Given the description of an element on the screen output the (x, y) to click on. 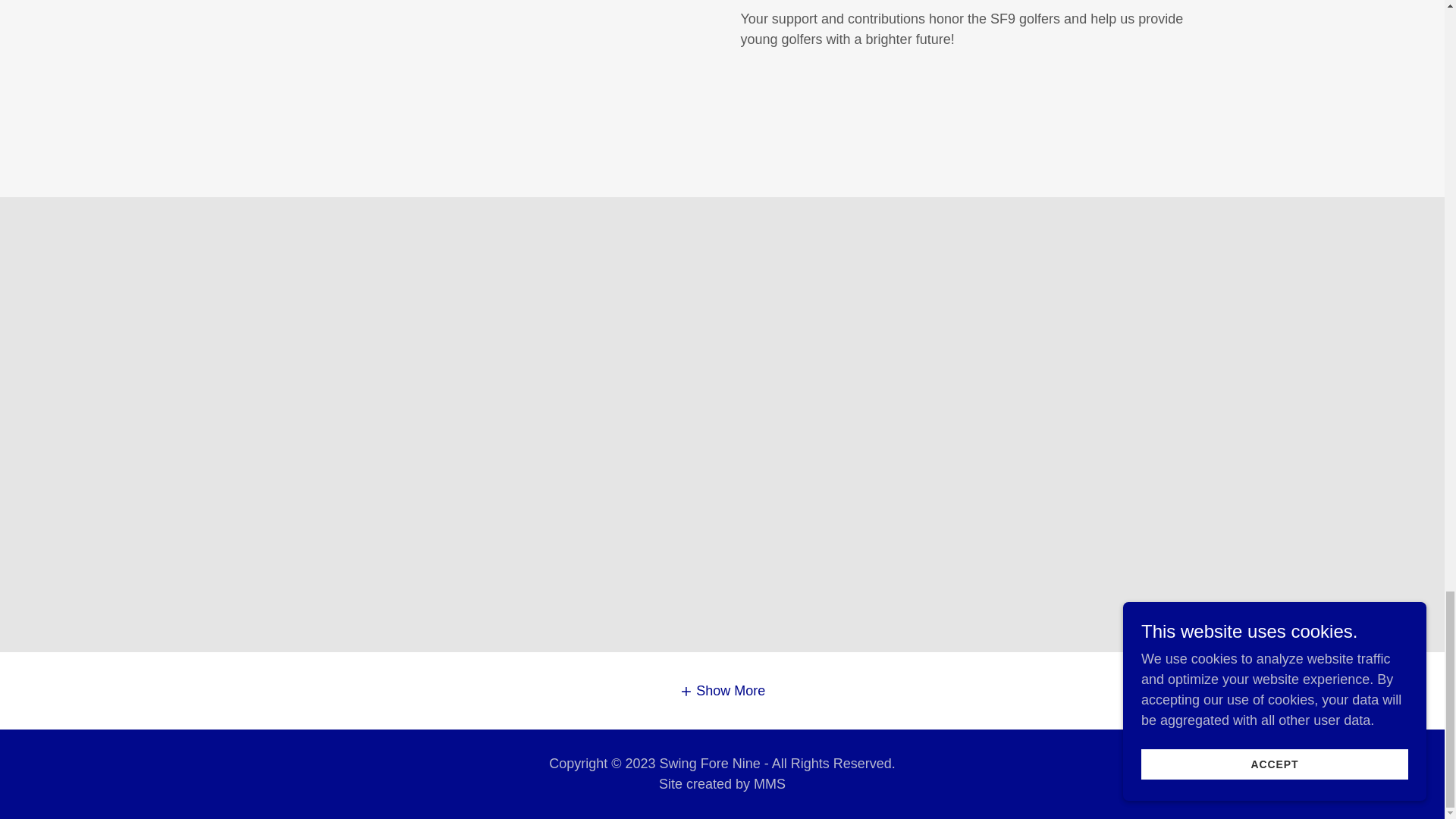
Show More (722, 690)
